Given the description of an element on the screen output the (x, y) to click on. 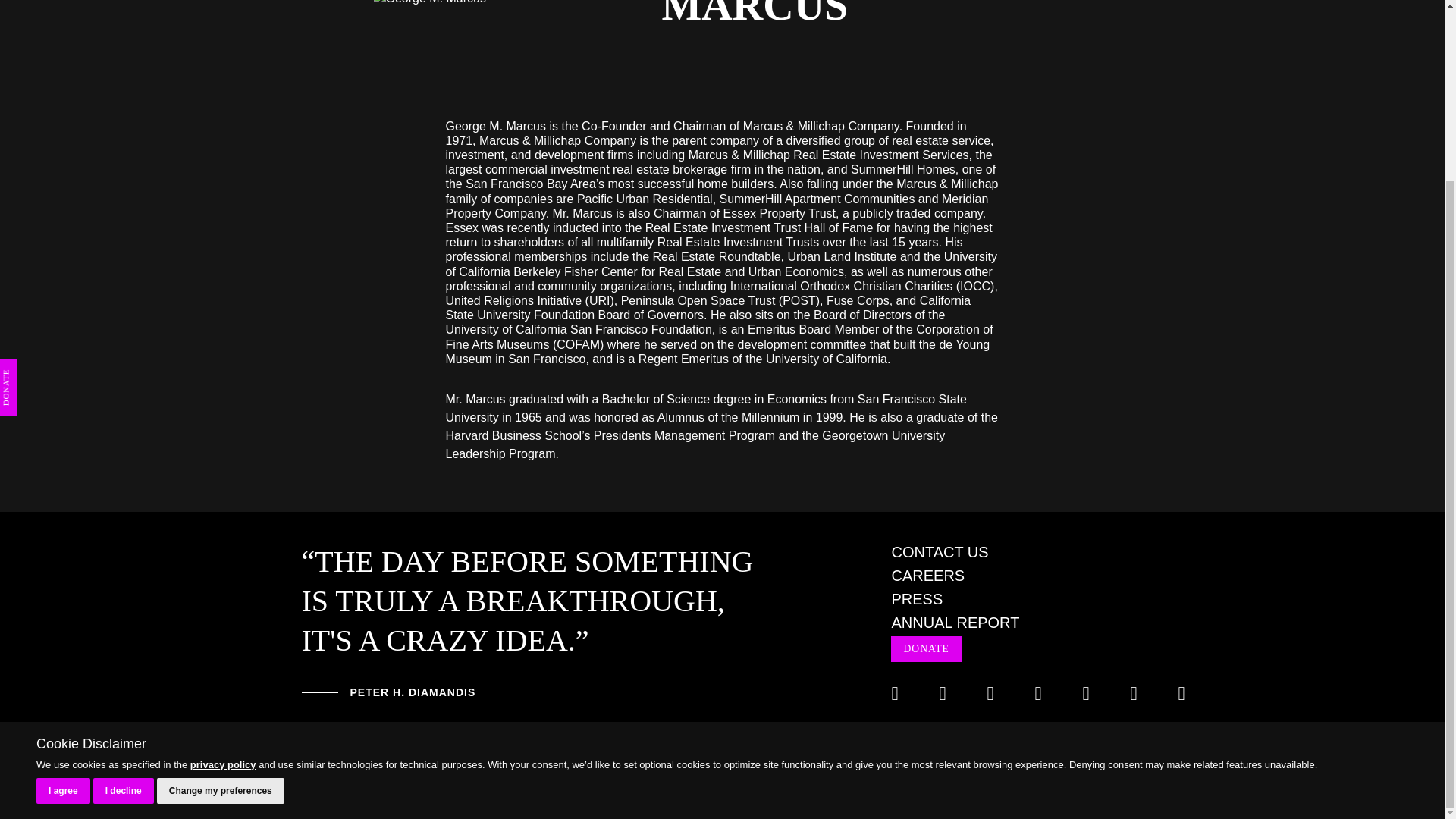
Visit XPRIZE on X (948, 692)
privacy policy (223, 541)
Visit XPRIZE's RSS feed (1186, 692)
Visit XPRIZE on YouTube (1090, 692)
I decline (123, 568)
I agree (63, 568)
Visit XPRIZE on Facebook (900, 692)
Change my preferences (220, 568)
Visit XPRIZE on Instagram (996, 692)
Visit XPRIZE on LinkedIn (1042, 692)
Visit XPRIZE on TikTok (1138, 692)
